Given the description of an element on the screen output the (x, y) to click on. 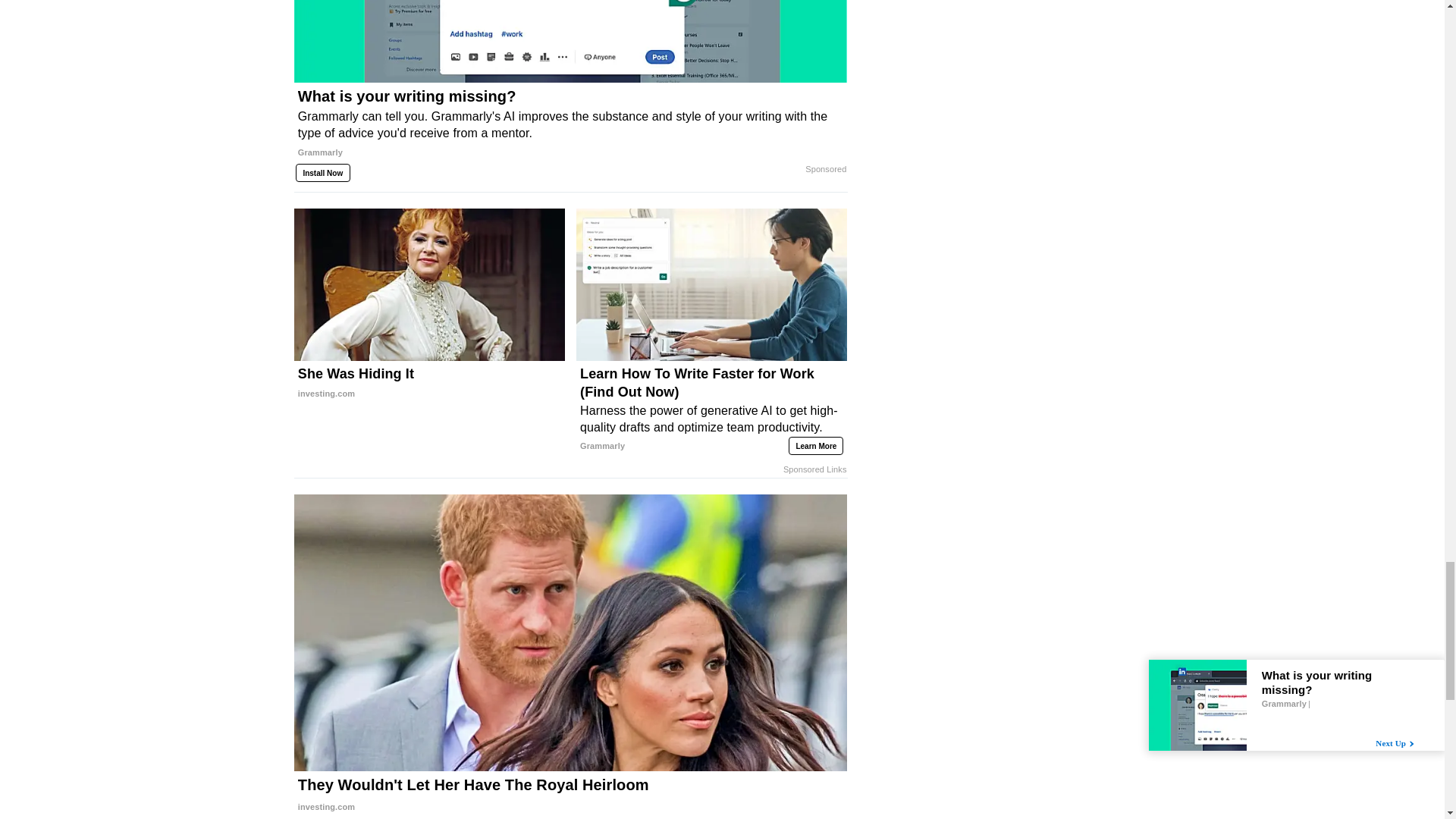
Sponsored (825, 169)
What is your writing missing? (570, 129)
What is your writing missing? (570, 41)
Install Now (322, 172)
Learn More (816, 445)
